Given the description of an element on the screen output the (x, y) to click on. 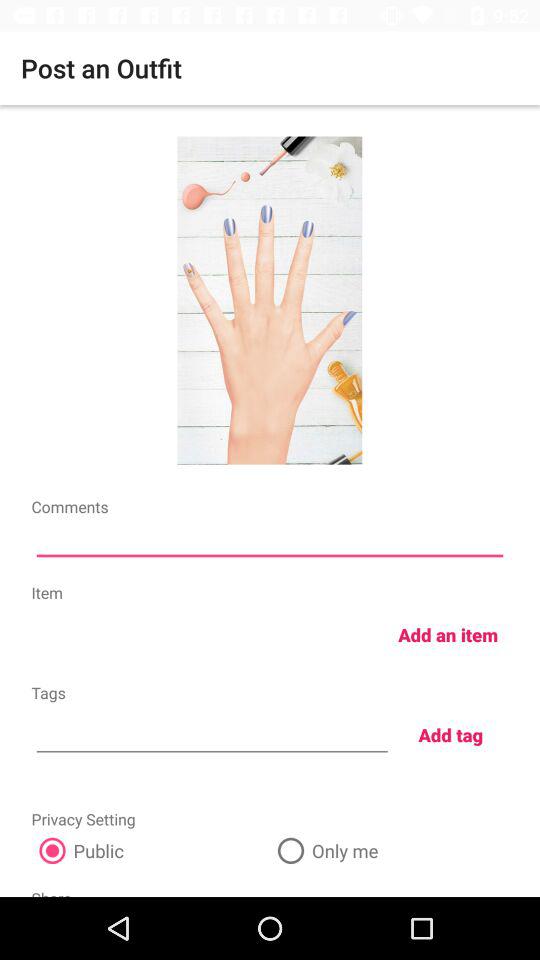
choose the add an item item (447, 634)
